Given the description of an element on the screen output the (x, y) to click on. 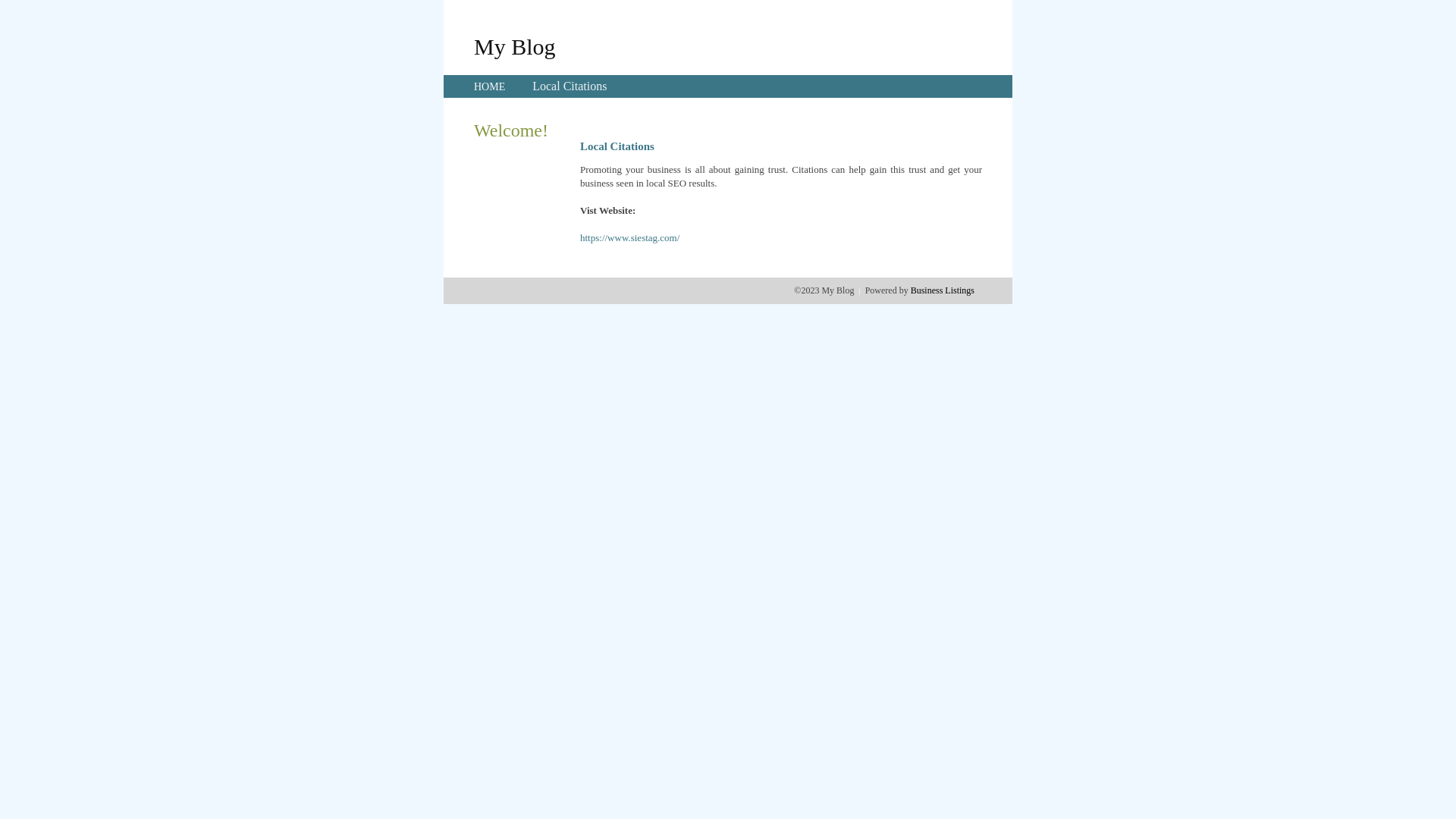
https://www.siestag.com/ Element type: text (629, 237)
My Blog Element type: text (514, 46)
HOME Element type: text (489, 86)
Local Citations Element type: text (569, 85)
Business Listings Element type: text (942, 290)
